Given the description of an element on the screen output the (x, y) to click on. 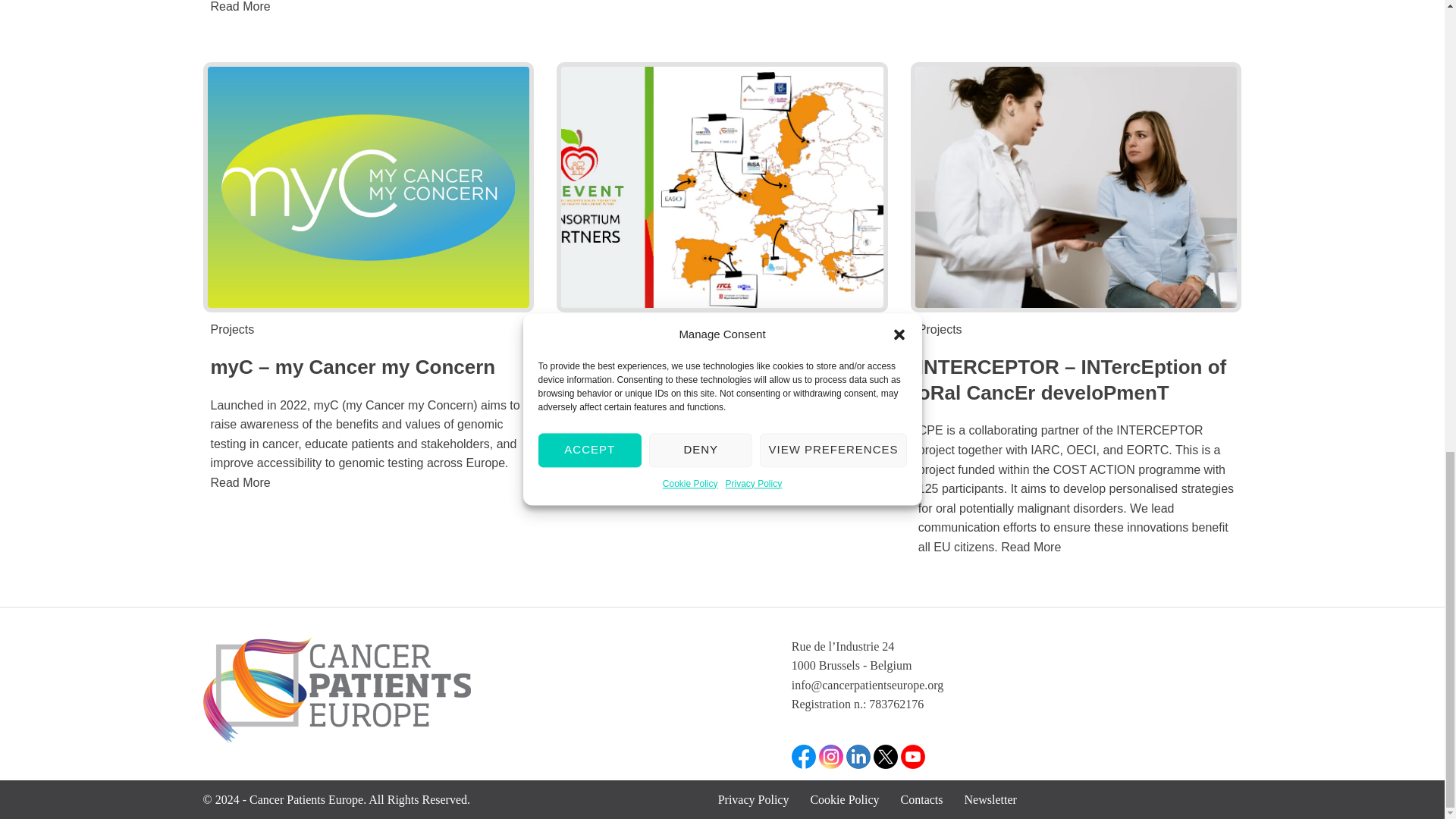
PREVENT (721, 186)
PREVENT (611, 366)
